Given the description of an element on the screen output the (x, y) to click on. 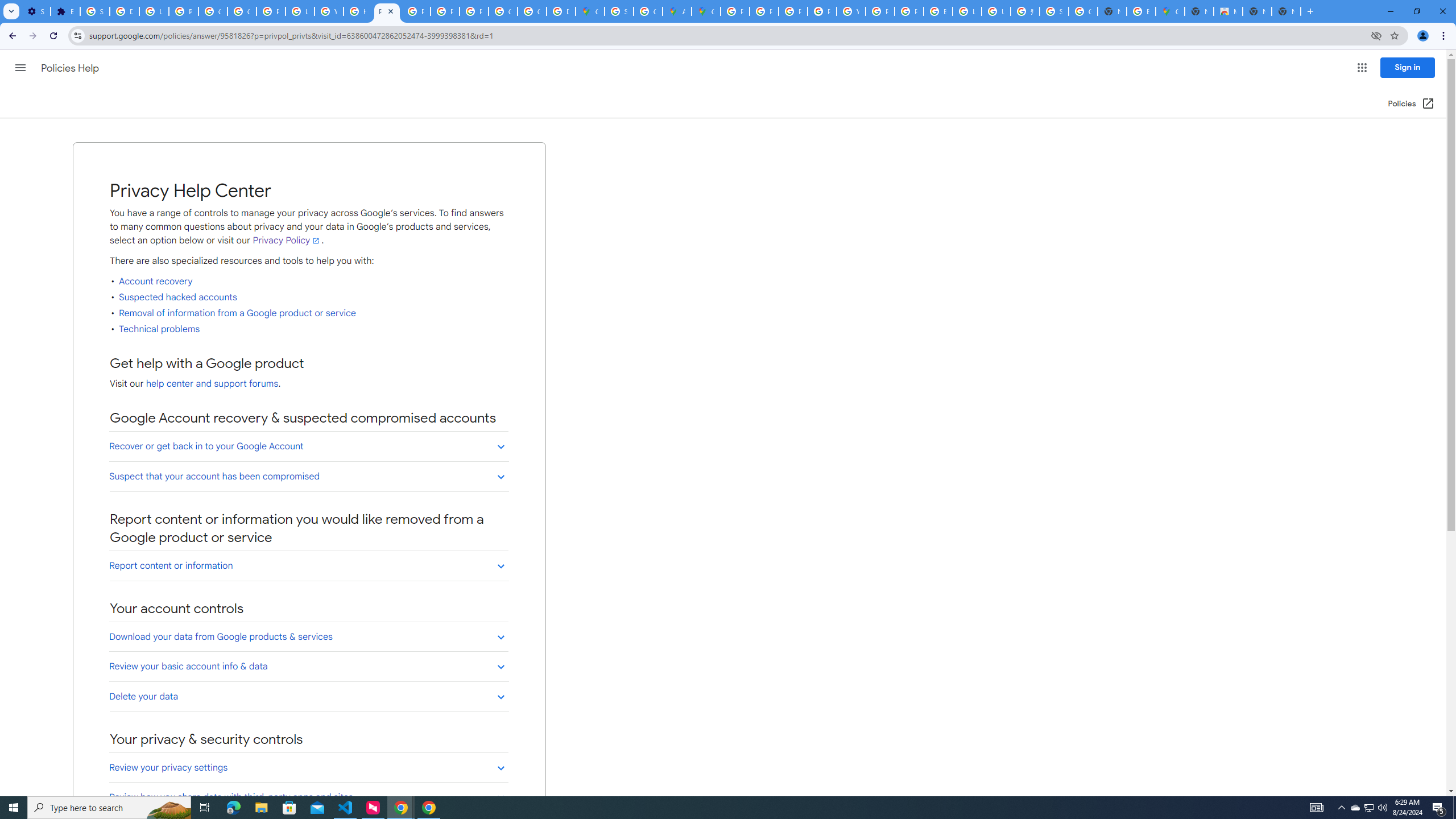
Download your data from Google products & services (308, 636)
Policies Help (70, 68)
